Given the description of an element on the screen output the (x, y) to click on. 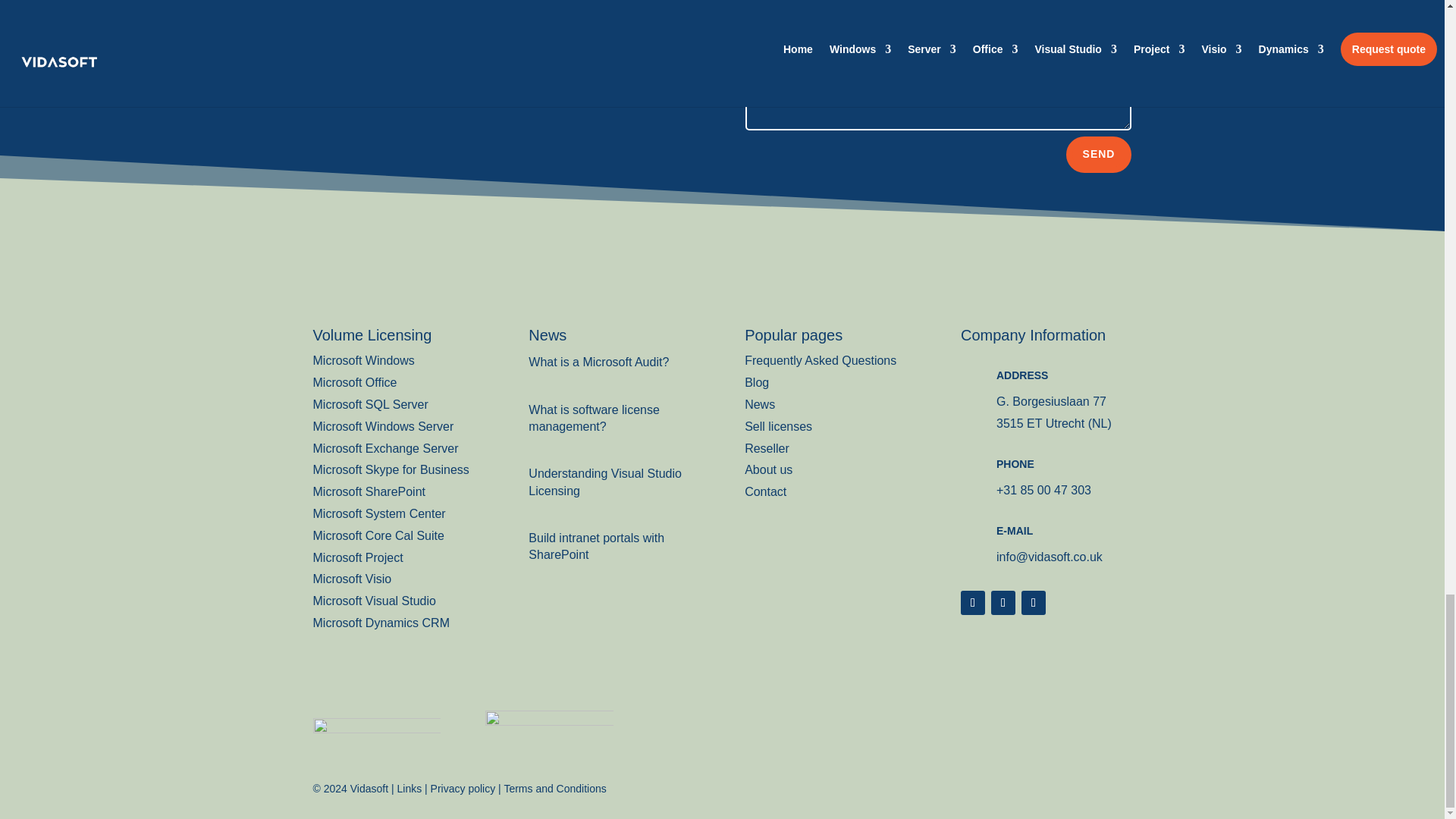
Microsoft Office licenses (354, 382)
Microsoft Windows licenses (363, 359)
Microsoft System Center licenses (379, 513)
Microsoft Windows Server licenses (382, 426)
Microsoft SharePoint licenses (369, 491)
Microsoft Skype for Business licenses (390, 469)
Microsoft Exchange Server licenses (385, 448)
Microsoft Core CAL Suite (378, 535)
Microsoft SQL Server licenses (370, 404)
Microsoft Project licenses (358, 557)
